Given the description of an element on the screen output the (x, y) to click on. 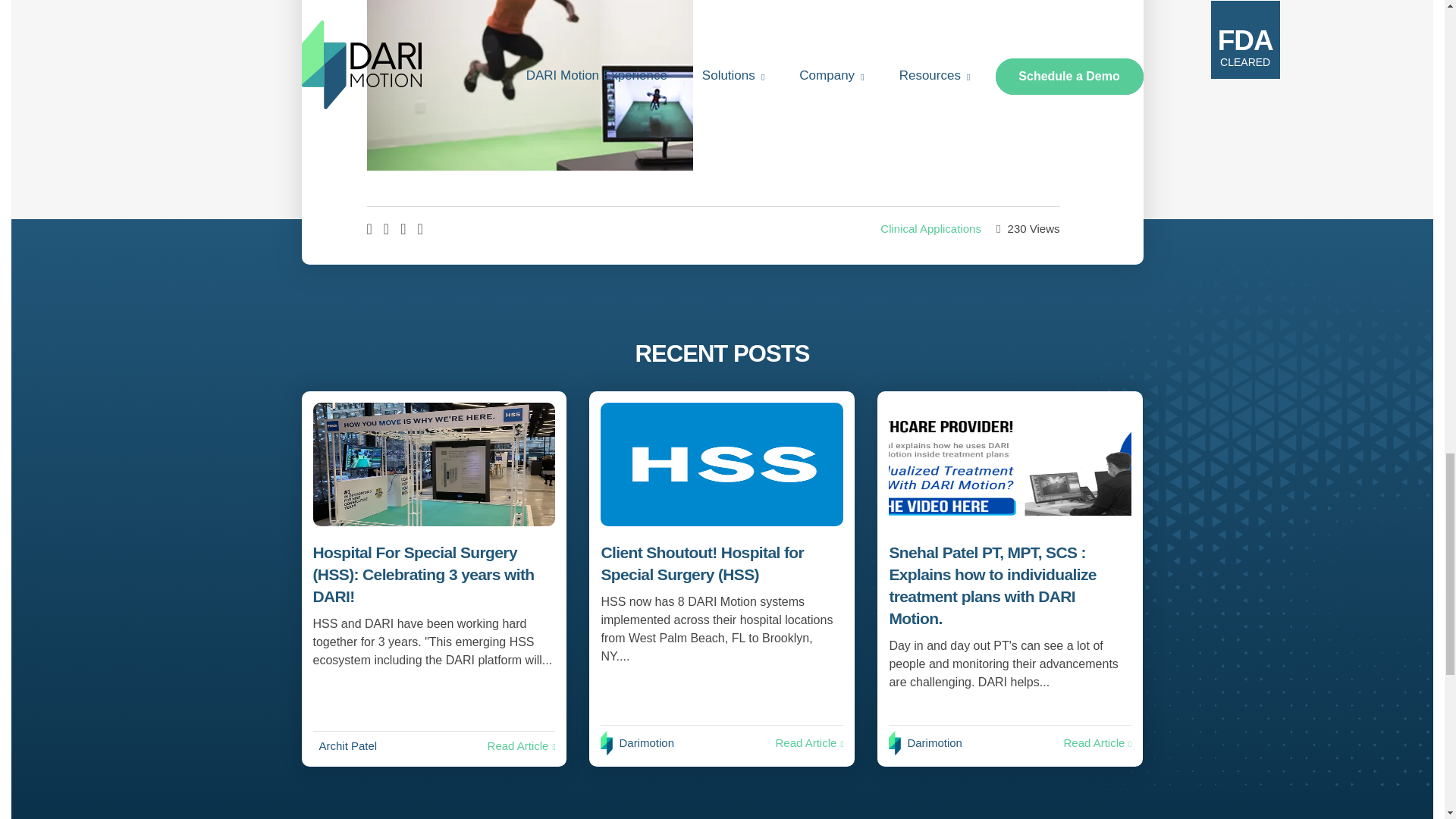
Read Article (1096, 742)
Read Article (808, 742)
Read Article (521, 745)
